Given the description of an element on the screen output the (x, y) to click on. 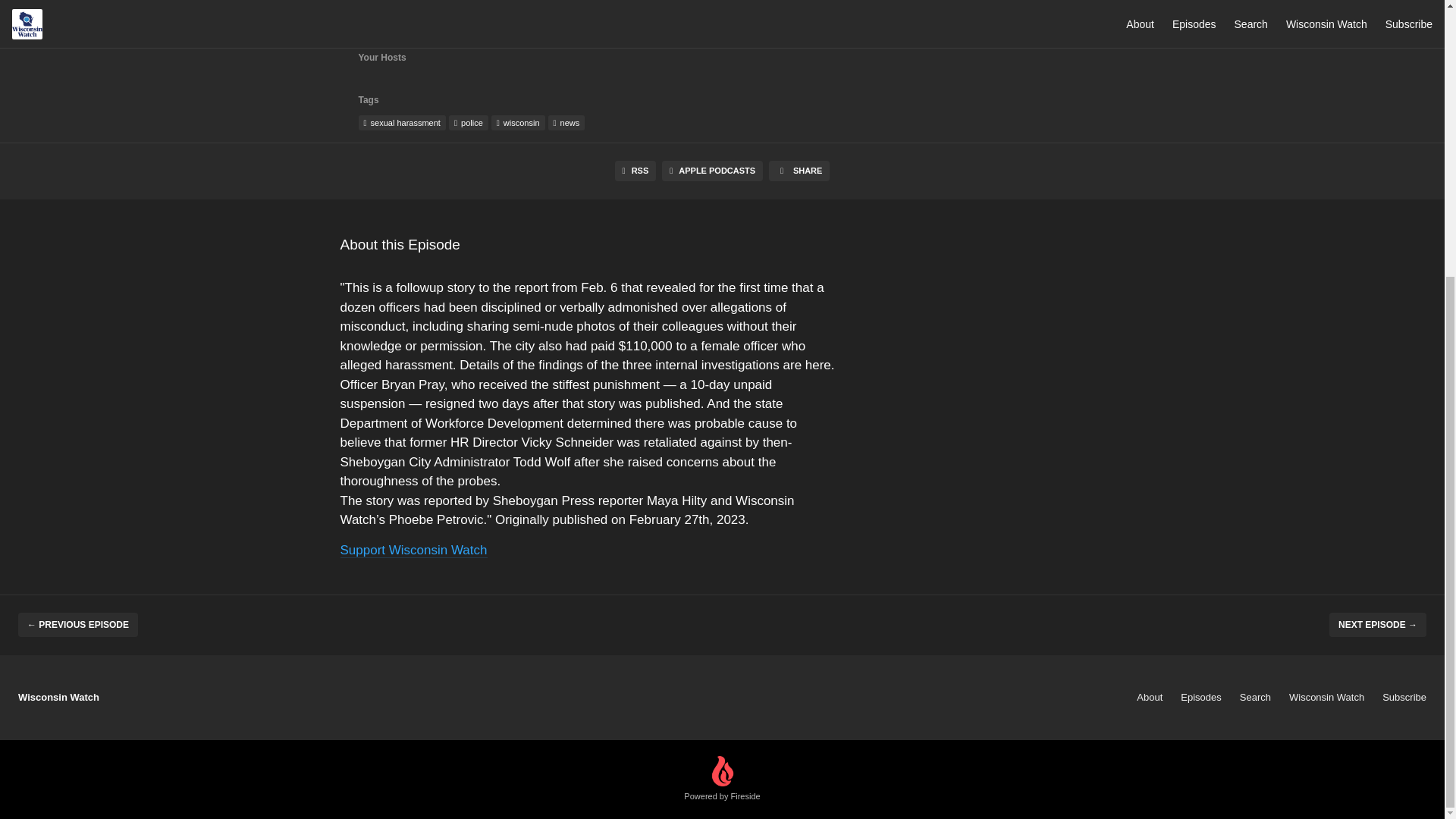
police (467, 122)
Search (1255, 696)
Support Wisconsin Watch (412, 549)
Episodes (1200, 696)
news (566, 122)
RSS (635, 170)
sexual harassment (401, 122)
APPLE PODCASTS (712, 170)
Powered by Fireside (722, 779)
wisconsin (518, 122)
Wisconsin Watch (1326, 696)
About (1149, 696)
SHARE (798, 170)
